Given the description of an element on the screen output the (x, y) to click on. 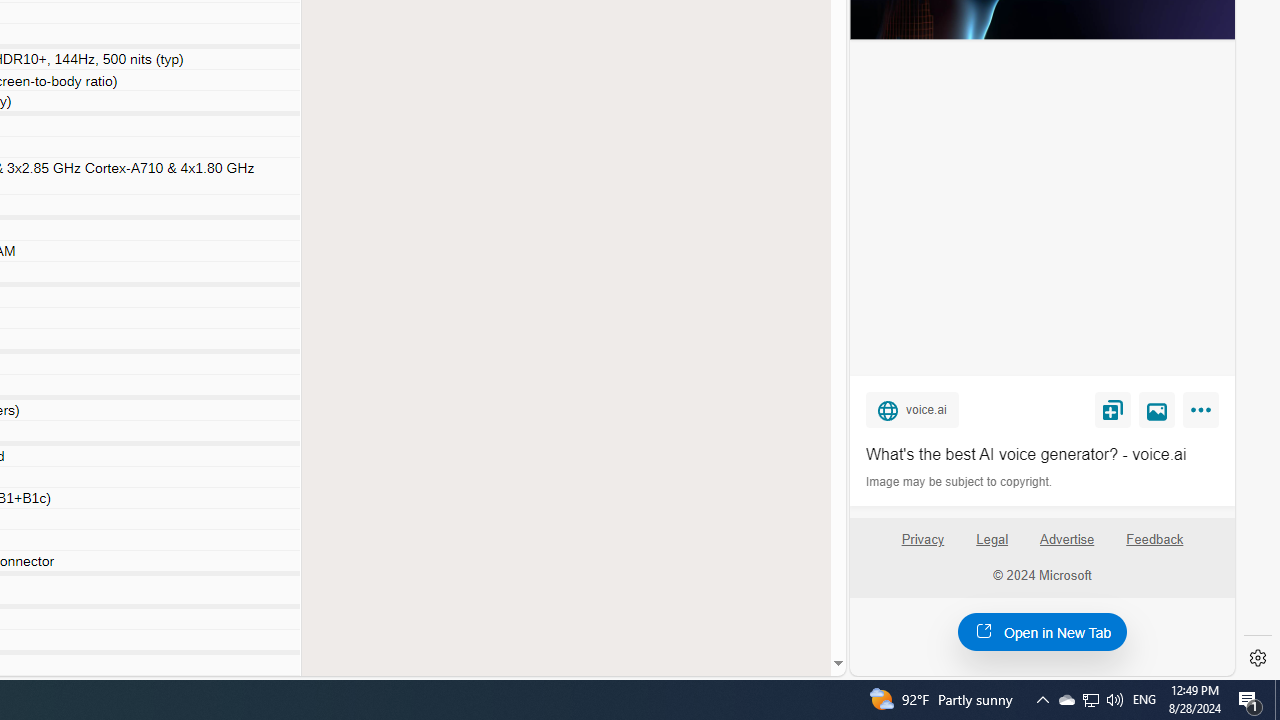
What's the best AI voice generator? - voice.ai (1042, 454)
View image (1157, 409)
Privacy (922, 547)
